Given the description of an element on the screen output the (x, y) to click on. 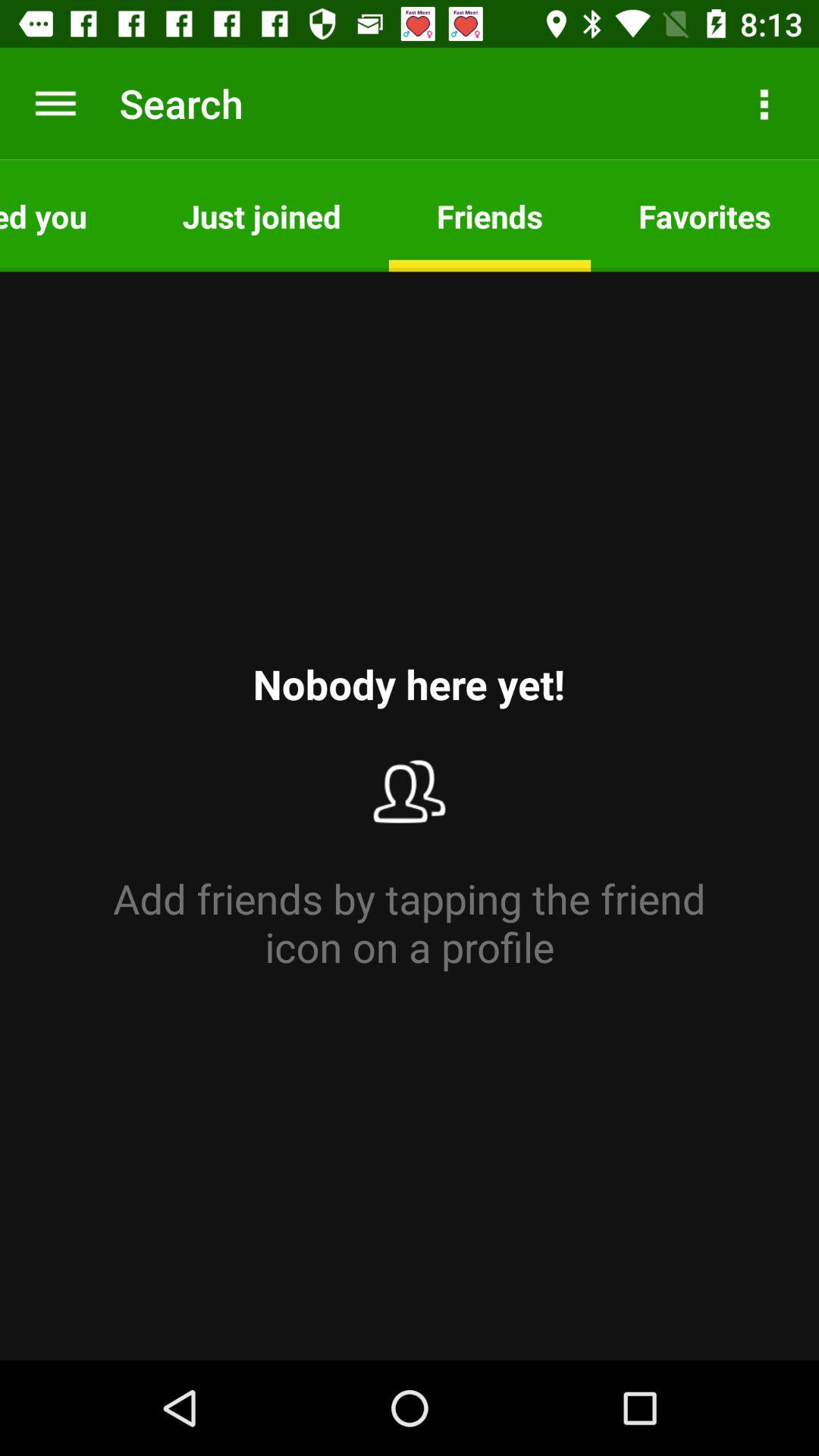
open the item to the left of the search (55, 103)
